Given the description of an element on the screen output the (x, y) to click on. 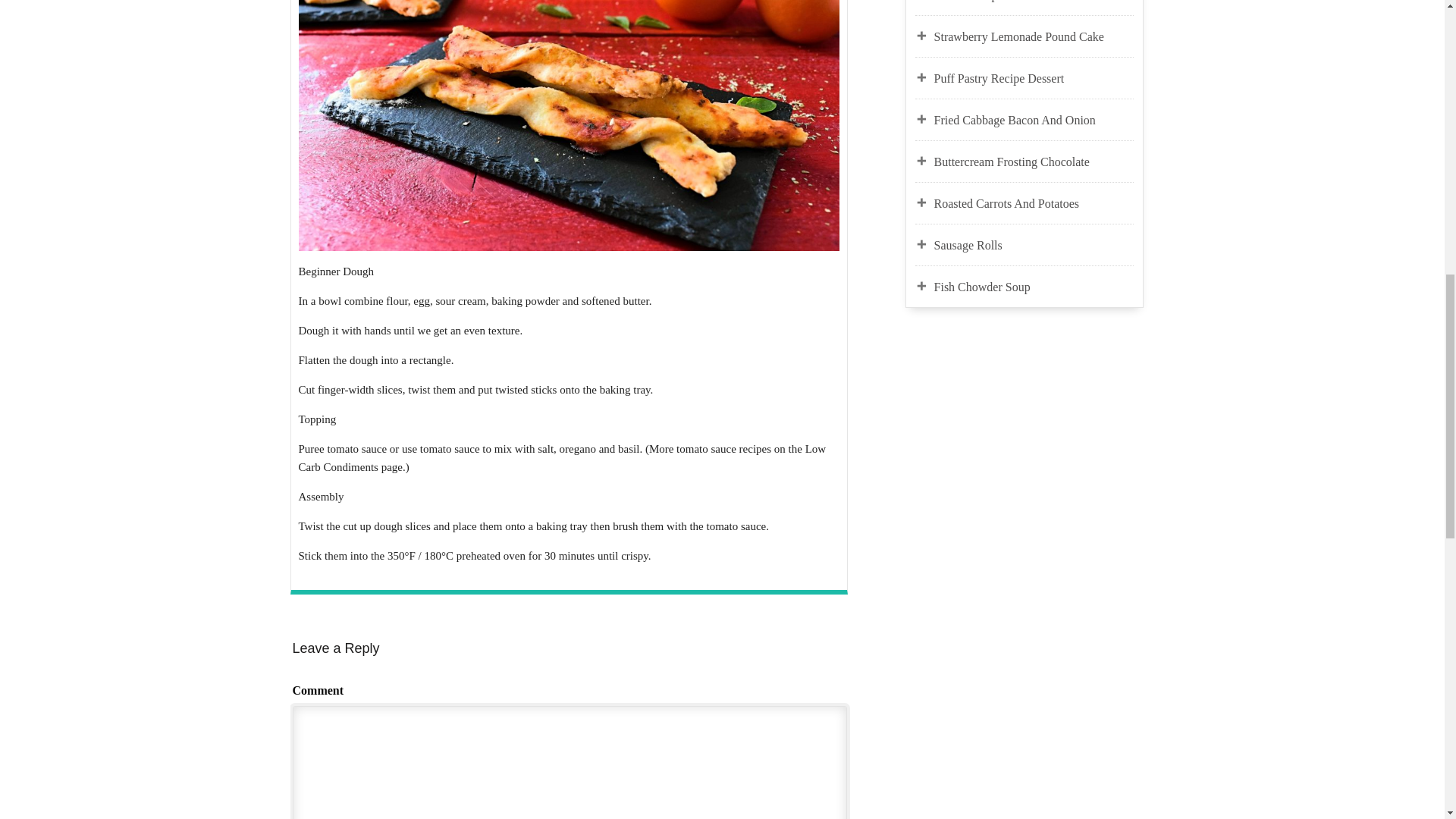
Buttercream Frosting Chocolate (1034, 162)
Fried Cabbage Bacon And Onion (1034, 120)
Puff Pastry Recipe Dessert (1034, 78)
Roasted Carrots And Potatoes (1034, 203)
Fish Chowder Soup (1034, 287)
Noodle Soup (1034, 2)
Strawberry Lemonade Pound Cake (1034, 36)
Sausage Rolls (1034, 245)
